Given the description of an element on the screen output the (x, y) to click on. 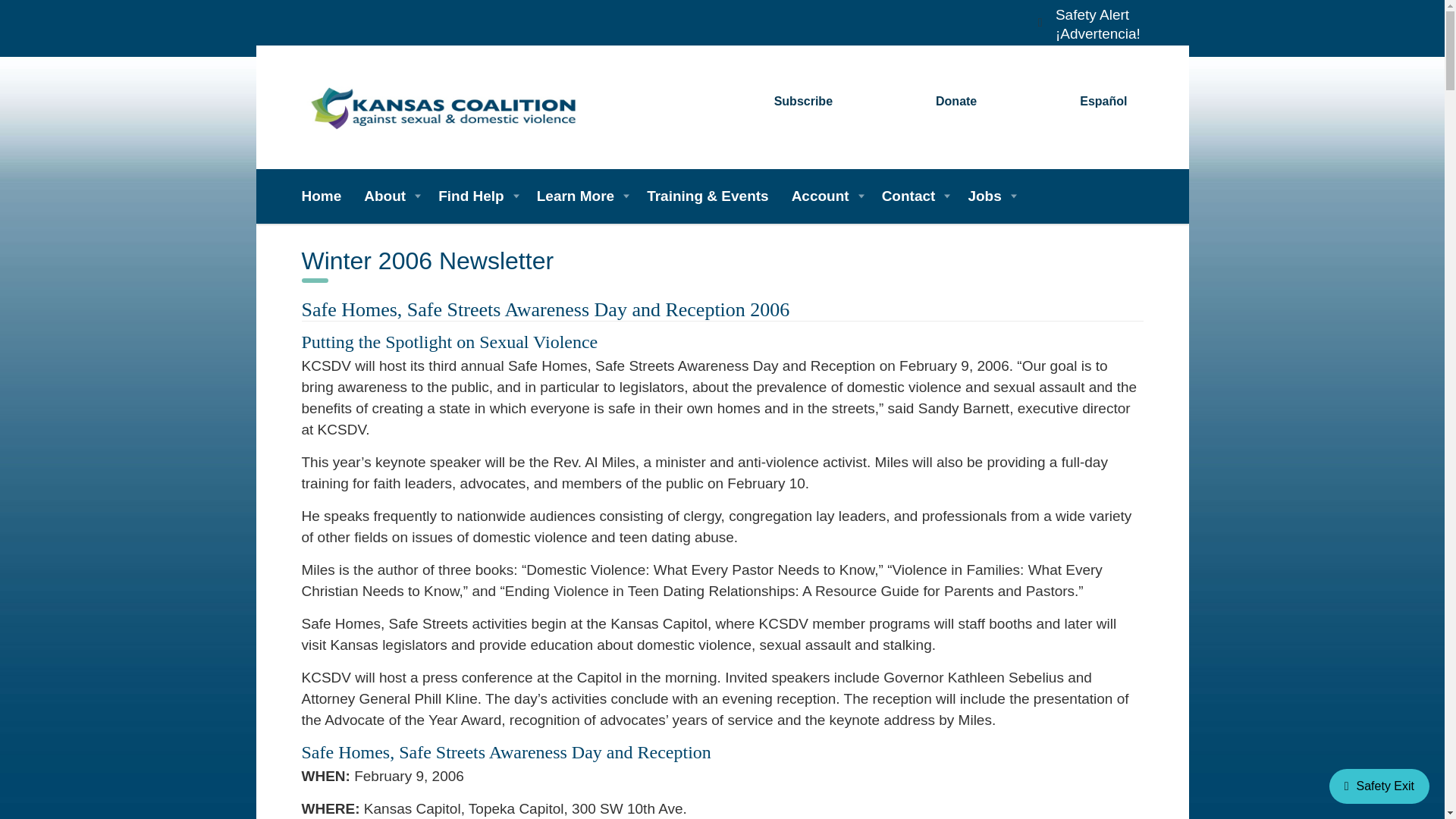
Safety Alert (1092, 14)
Donate (956, 101)
Subscribe (803, 101)
Find Help (475, 195)
Donate (956, 101)
Safety Exit (1379, 786)
Subscribe (803, 101)
Home (327, 195)
About (389, 195)
